Given the description of an element on the screen output the (x, y) to click on. 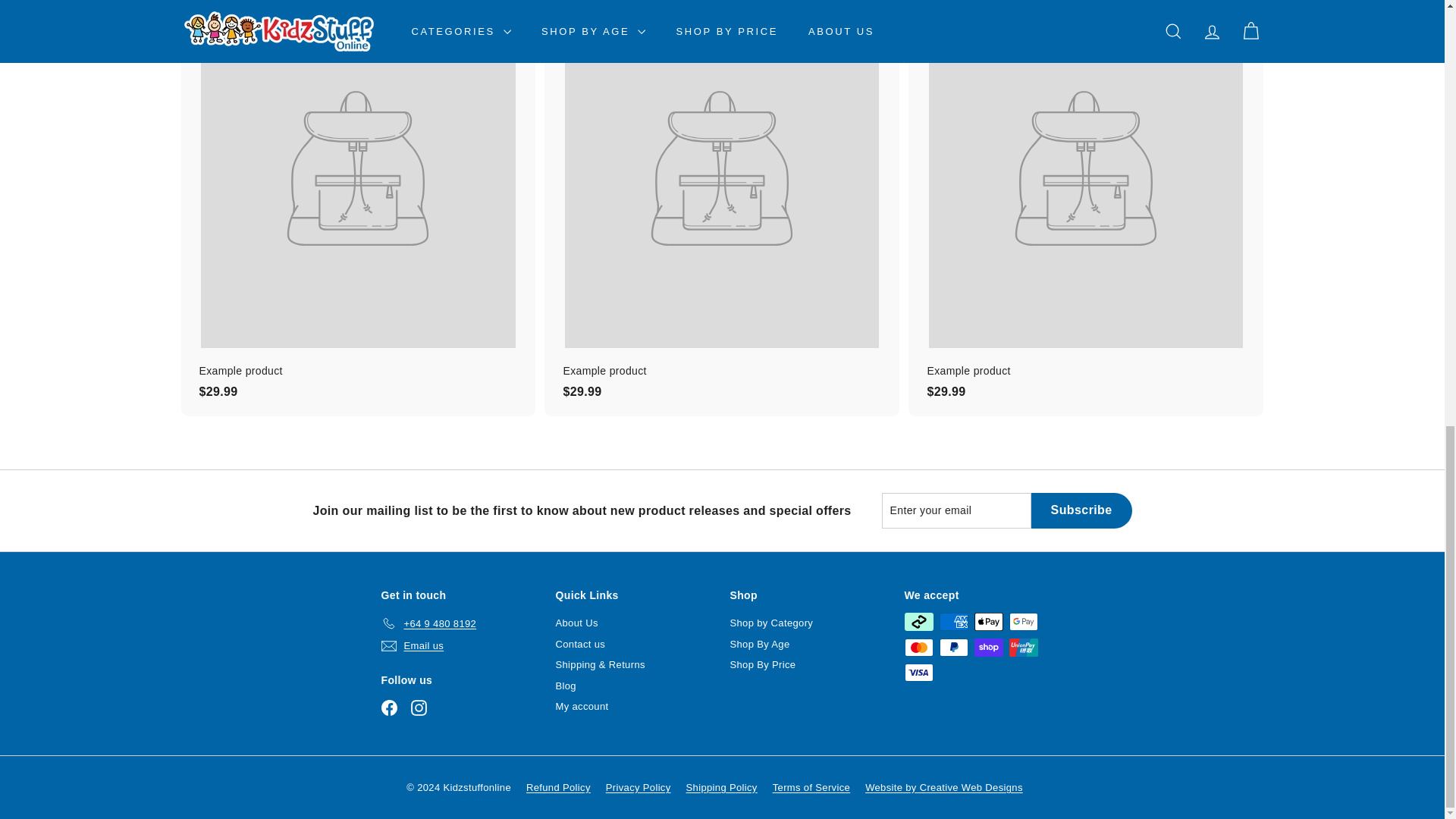
American Express (953, 621)
Kidzstuffonline on Facebook (388, 707)
Apple Pay (988, 621)
Afterpay (918, 621)
Kidzstuffonline on Instagram (418, 707)
